Given the description of an element on the screen output the (x, y) to click on. 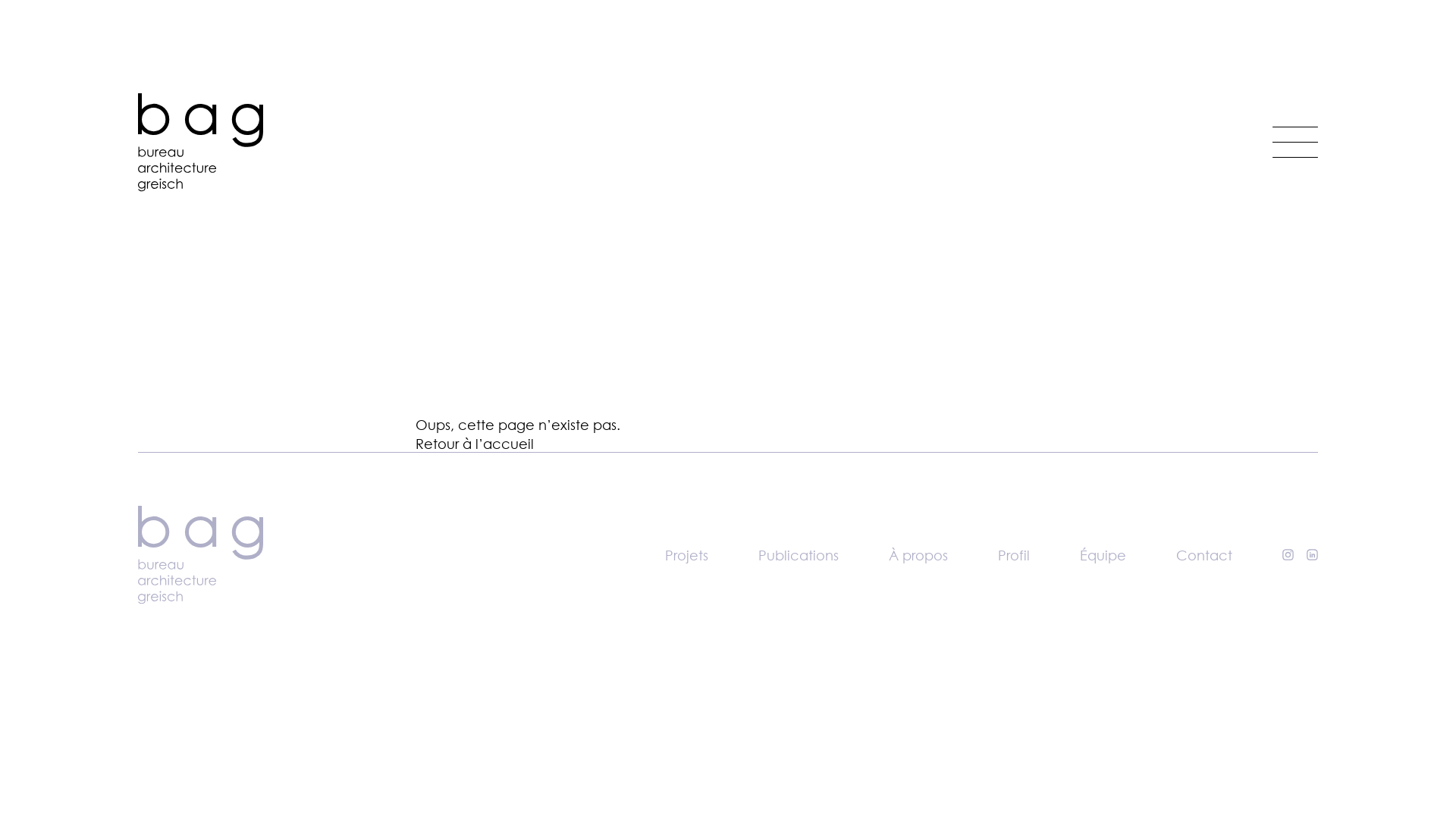
Projets Element type: text (686, 554)
Contact Element type: text (1204, 554)
Profil Element type: text (1013, 554)
Publications Element type: text (798, 554)
